Given the description of an element on the screen output the (x, y) to click on. 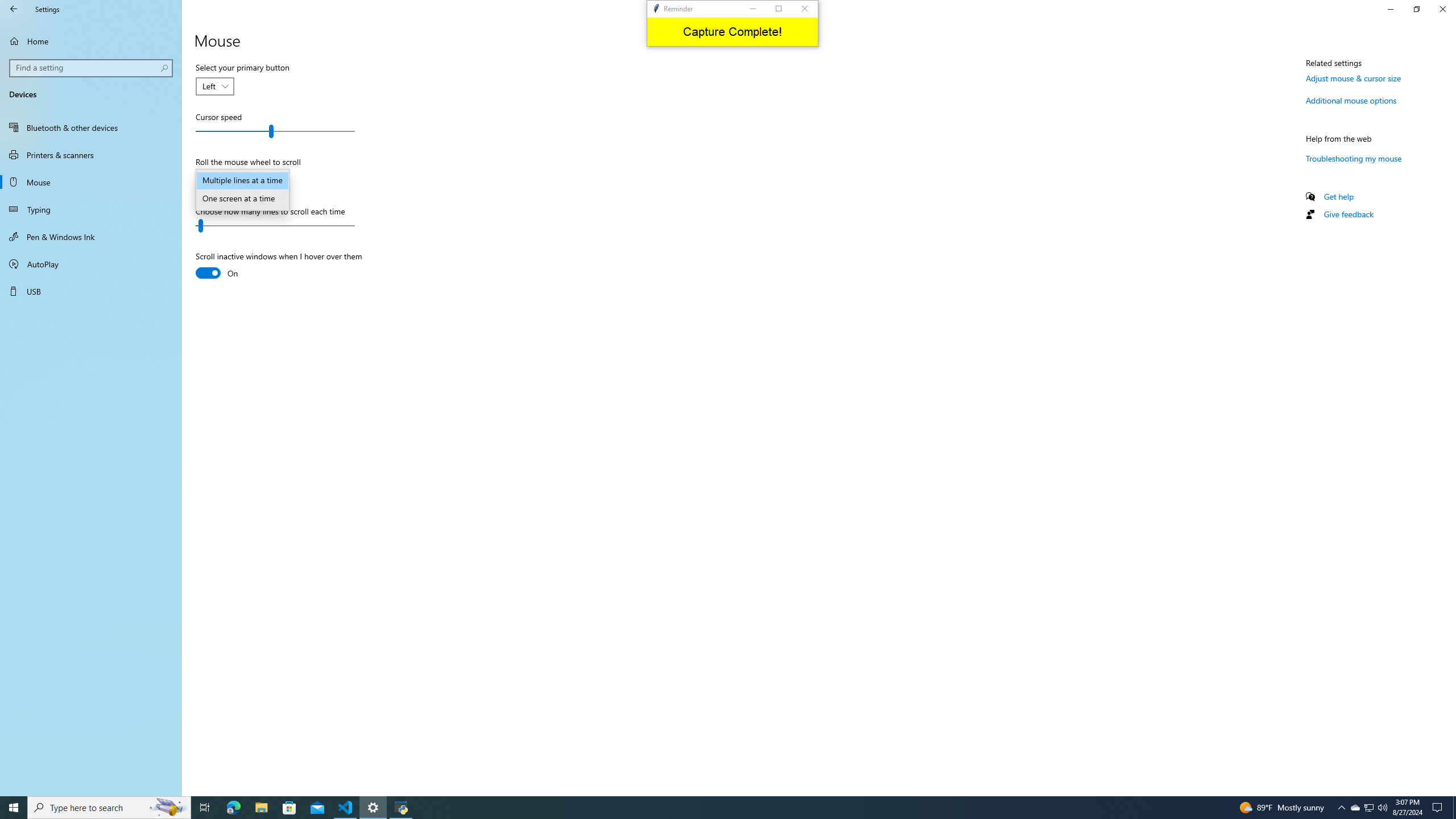
Additional mouse options (1351, 100)
